Given the description of an element on the screen output the (x, y) to click on. 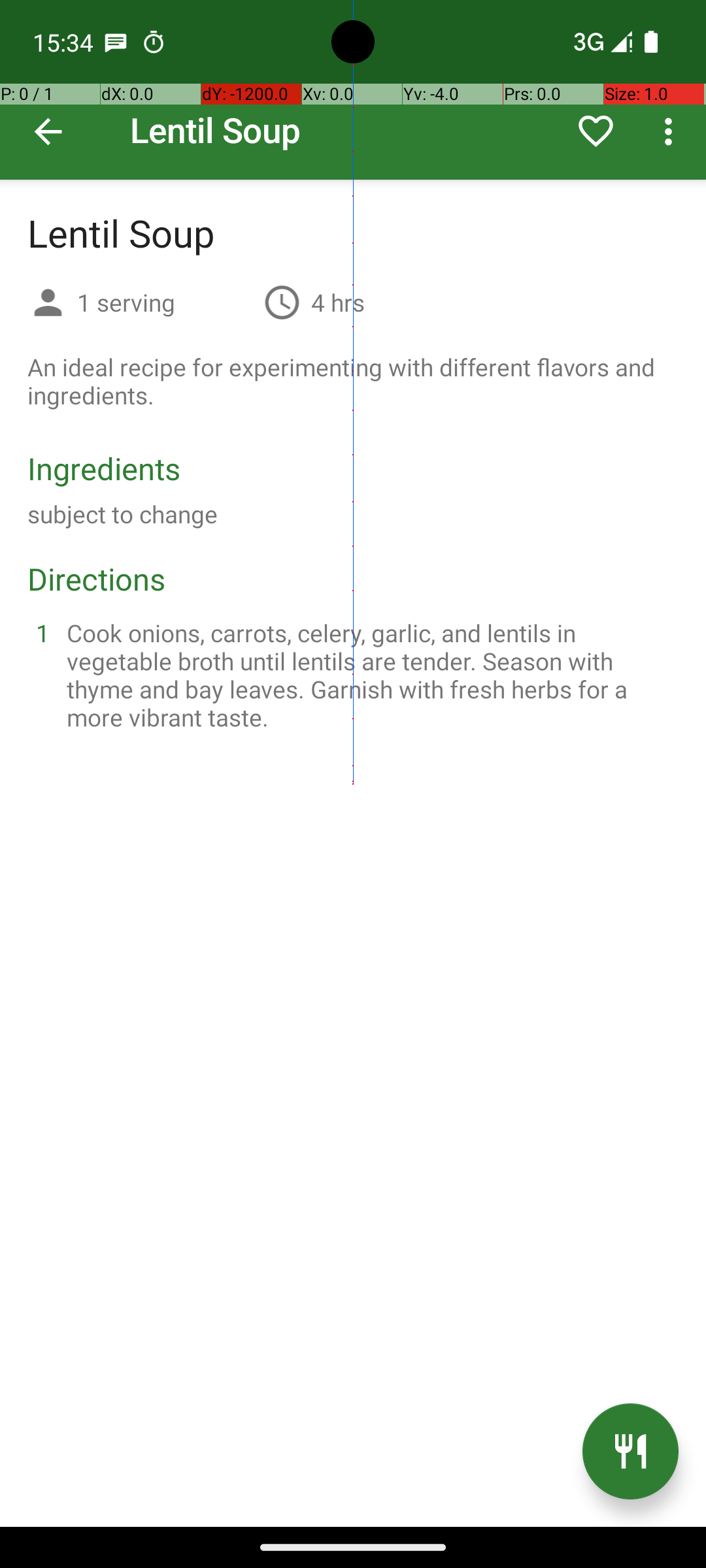
Cook onions, carrots, celery, garlic, and lentils in vegetable broth until lentils are tender. Season with thyme and bay leaves. Garnish with fresh herbs for a more vibrant taste. Element type: android.widget.TextView (368, 674)
